Given the description of an element on the screen output the (x, y) to click on. 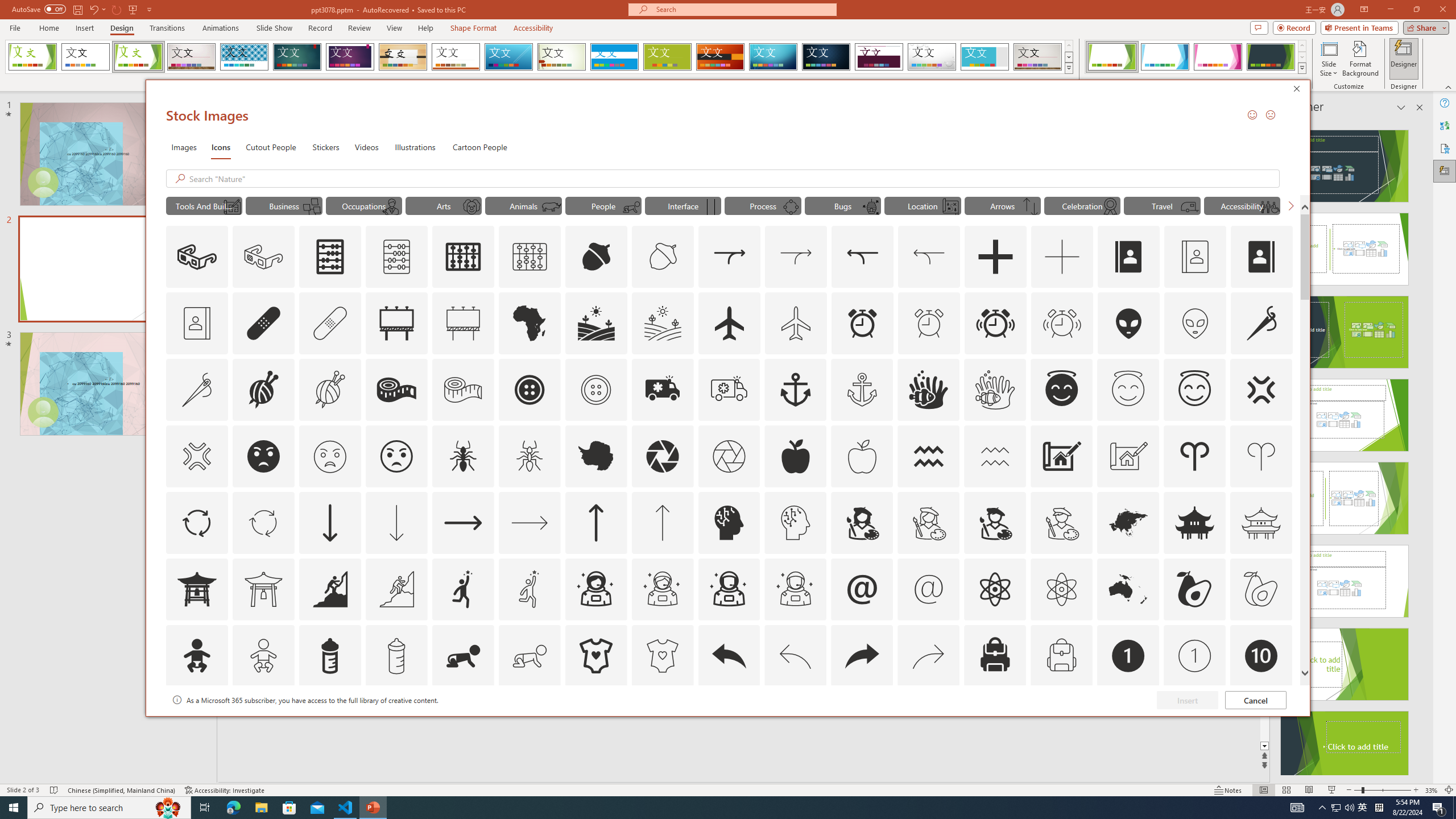
AutomationID: Icons_Abacus (330, 256)
AutomationID: Icons_Ambulance (662, 389)
AutomationID: Icons_AngerSymbol (1260, 389)
Facet Variant 4 (1270, 56)
AutomationID: Icons_AddressBook_RTL_M (197, 323)
"Occupations" Icons. (363, 205)
AutomationID: Icons_Aries (1194, 455)
AutomationID: Icons_CirclesWithLines_M (790, 206)
